Given the description of an element on the screen output the (x, y) to click on. 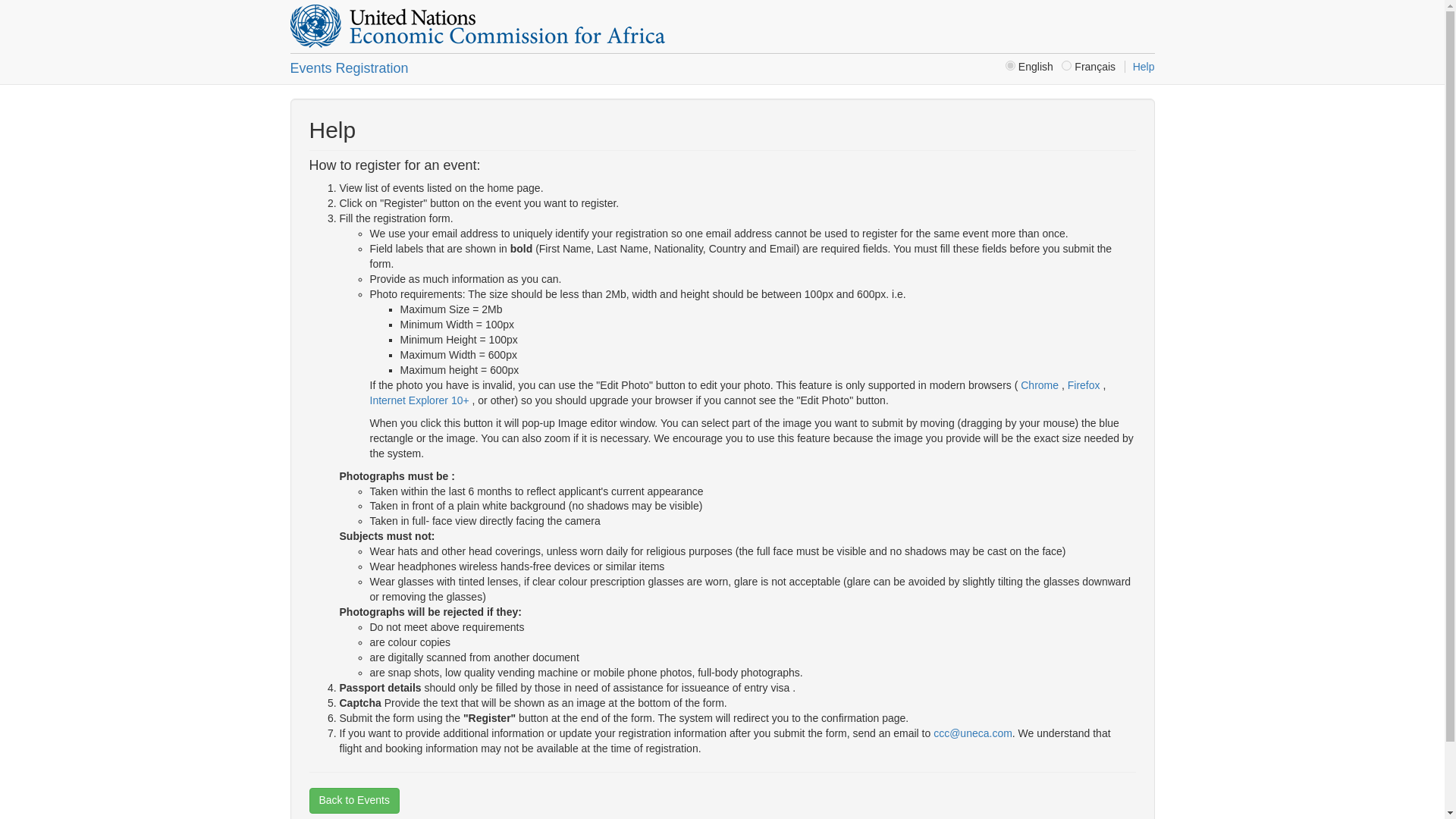
Help (1139, 66)
en-us (1010, 65)
Back to Events (353, 800)
Firefox (1085, 385)
Events Registration (348, 68)
fr (1066, 65)
Chrome (1039, 385)
